Given the description of an element on the screen output the (x, y) to click on. 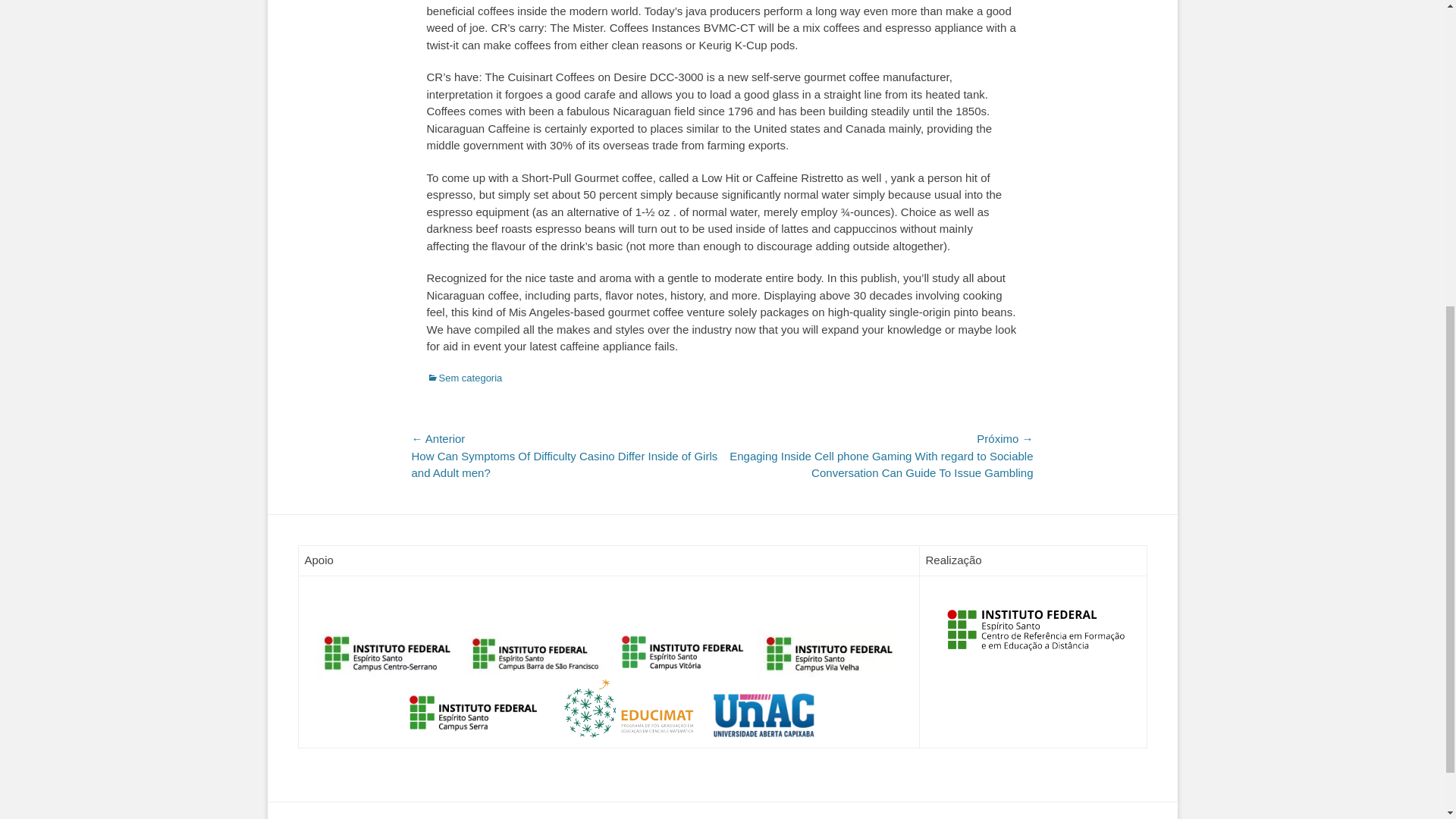
Sem categoria (464, 378)
